Given the description of an element on the screen output the (x, y) to click on. 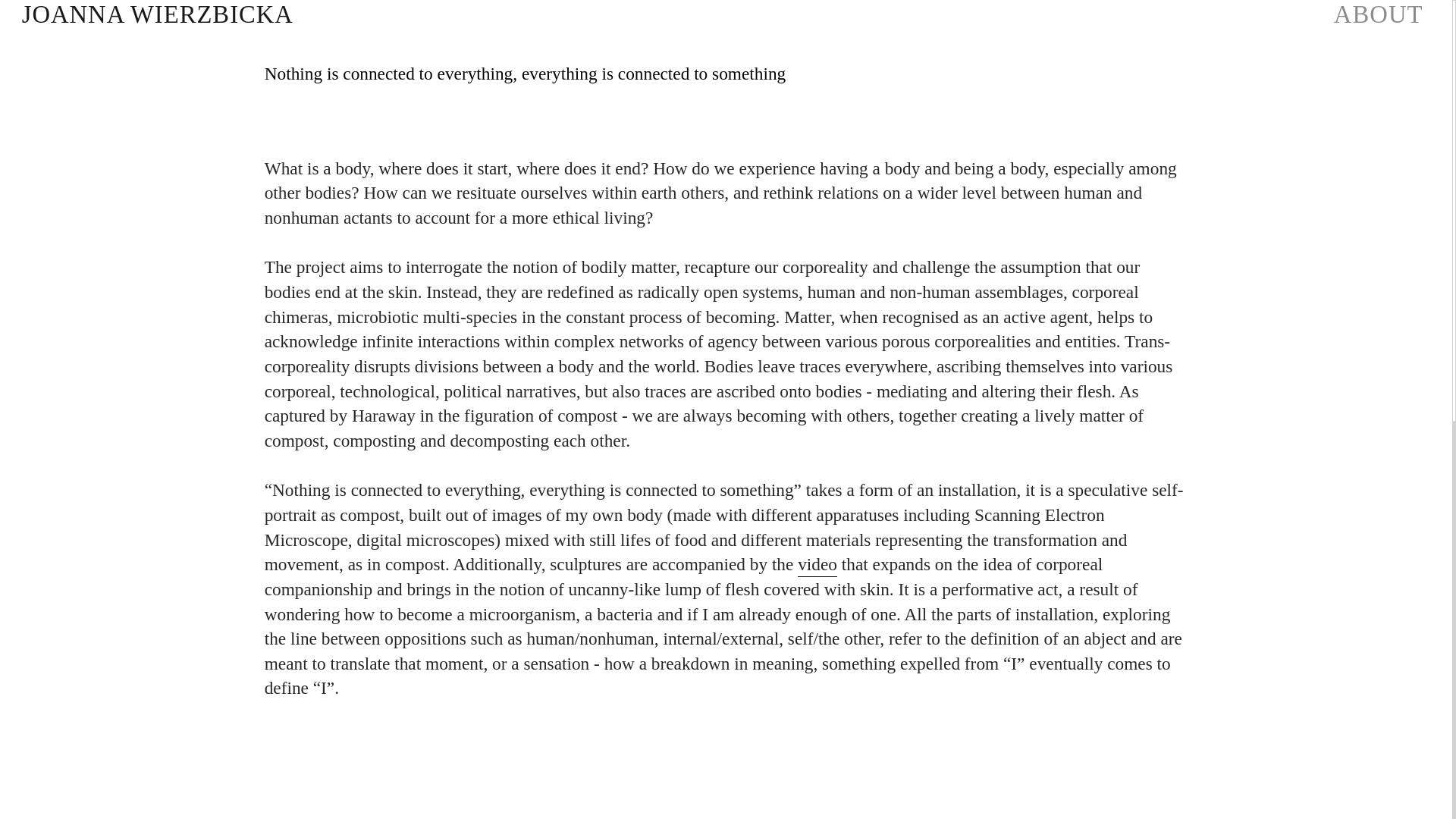
video (817, 565)
